Given the description of an element on the screen output the (x, y) to click on. 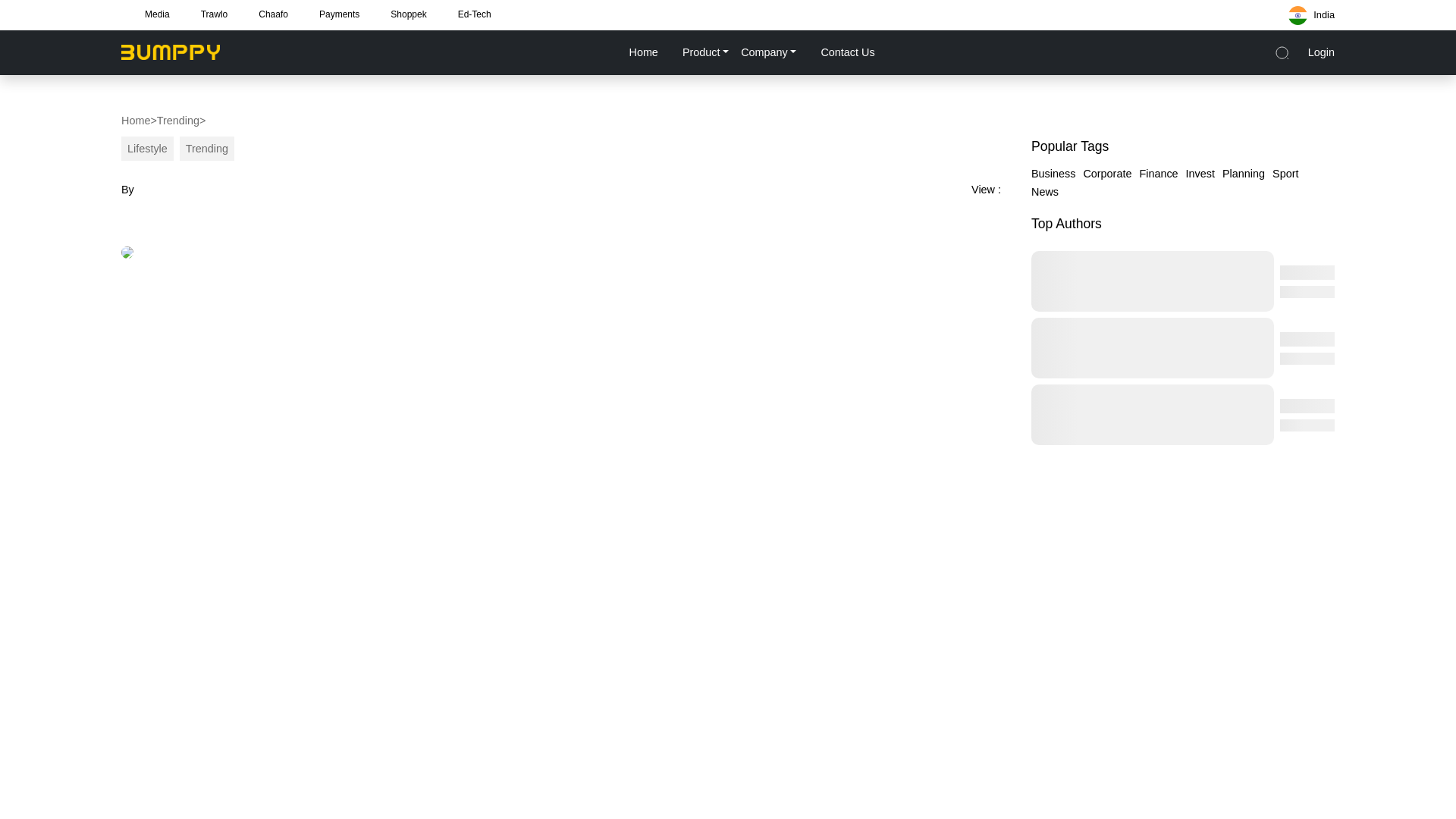
Company (768, 52)
Product (706, 52)
Login (1321, 52)
Contact Us (847, 52)
Home (642, 52)
Home (134, 120)
